Given the description of an element on the screen output the (x, y) to click on. 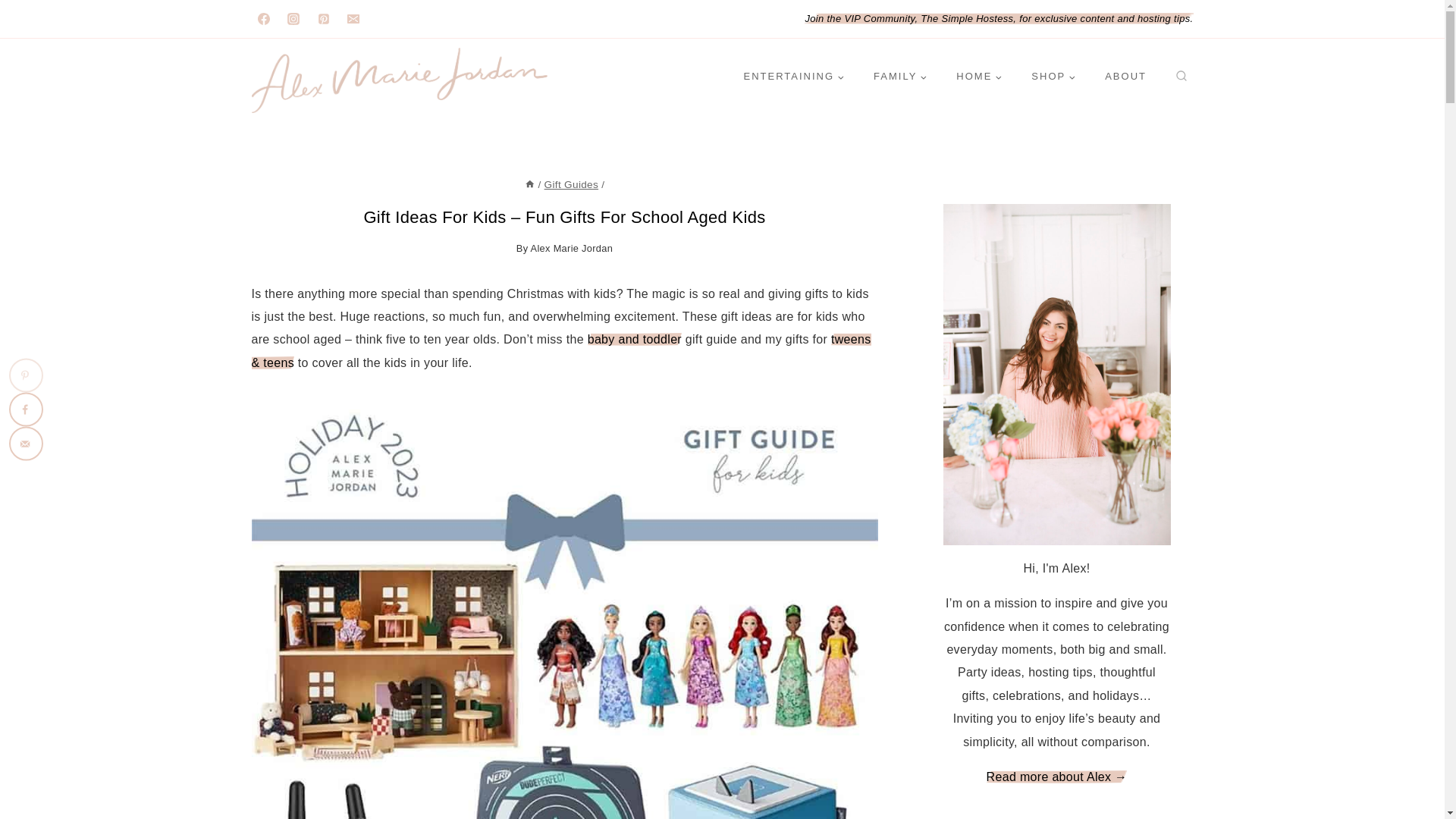
Share on Facebook (25, 409)
Alex Marie Jordan (571, 247)
ABOUT (1125, 76)
baby and toddler (634, 338)
SHOP (1053, 76)
FAMILY (900, 76)
Send over email (25, 442)
ENTERTAINING (794, 76)
HOME (979, 76)
